Given the description of an element on the screen output the (x, y) to click on. 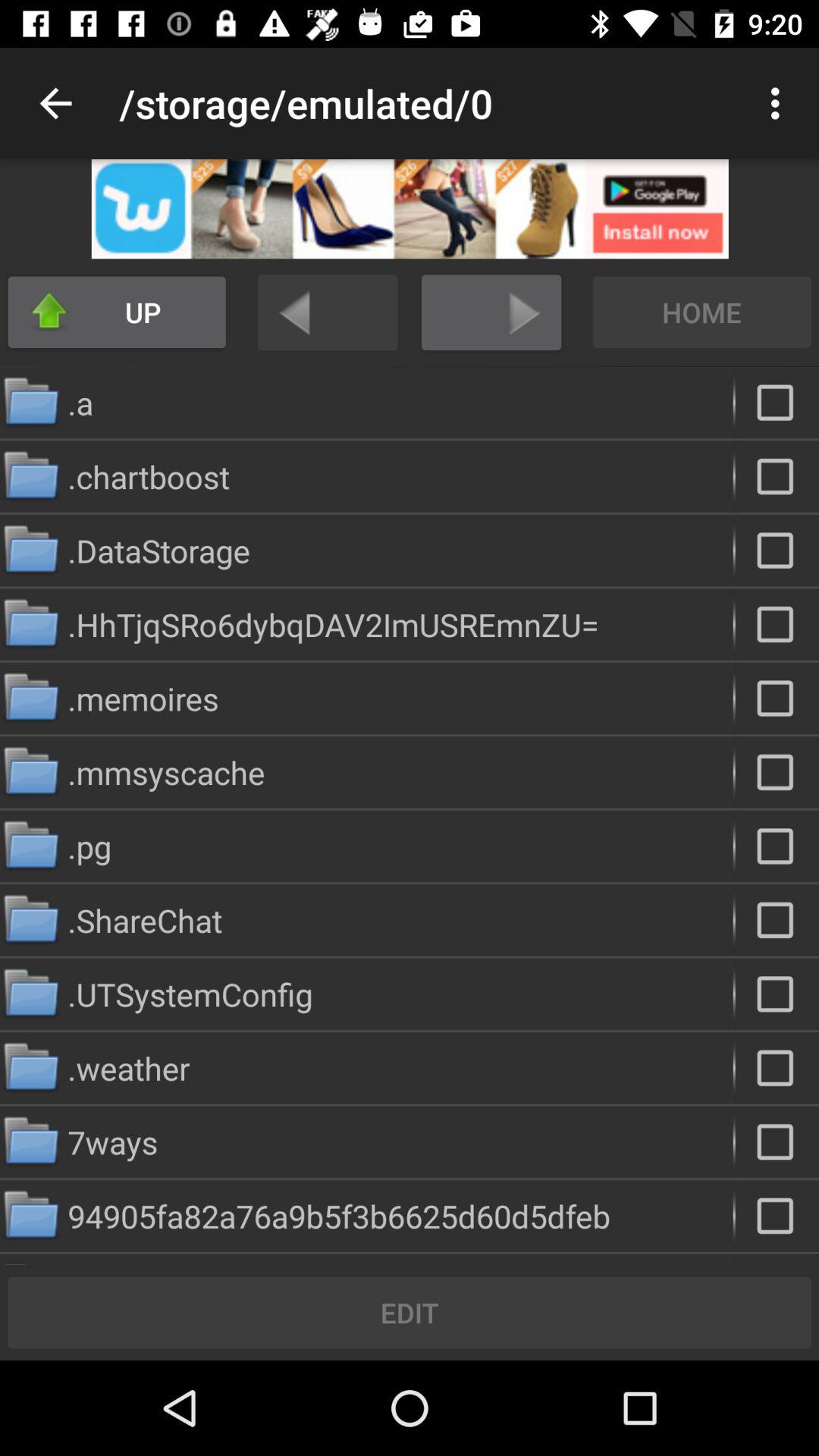
enable option (777, 920)
